Given the description of an element on the screen output the (x, y) to click on. 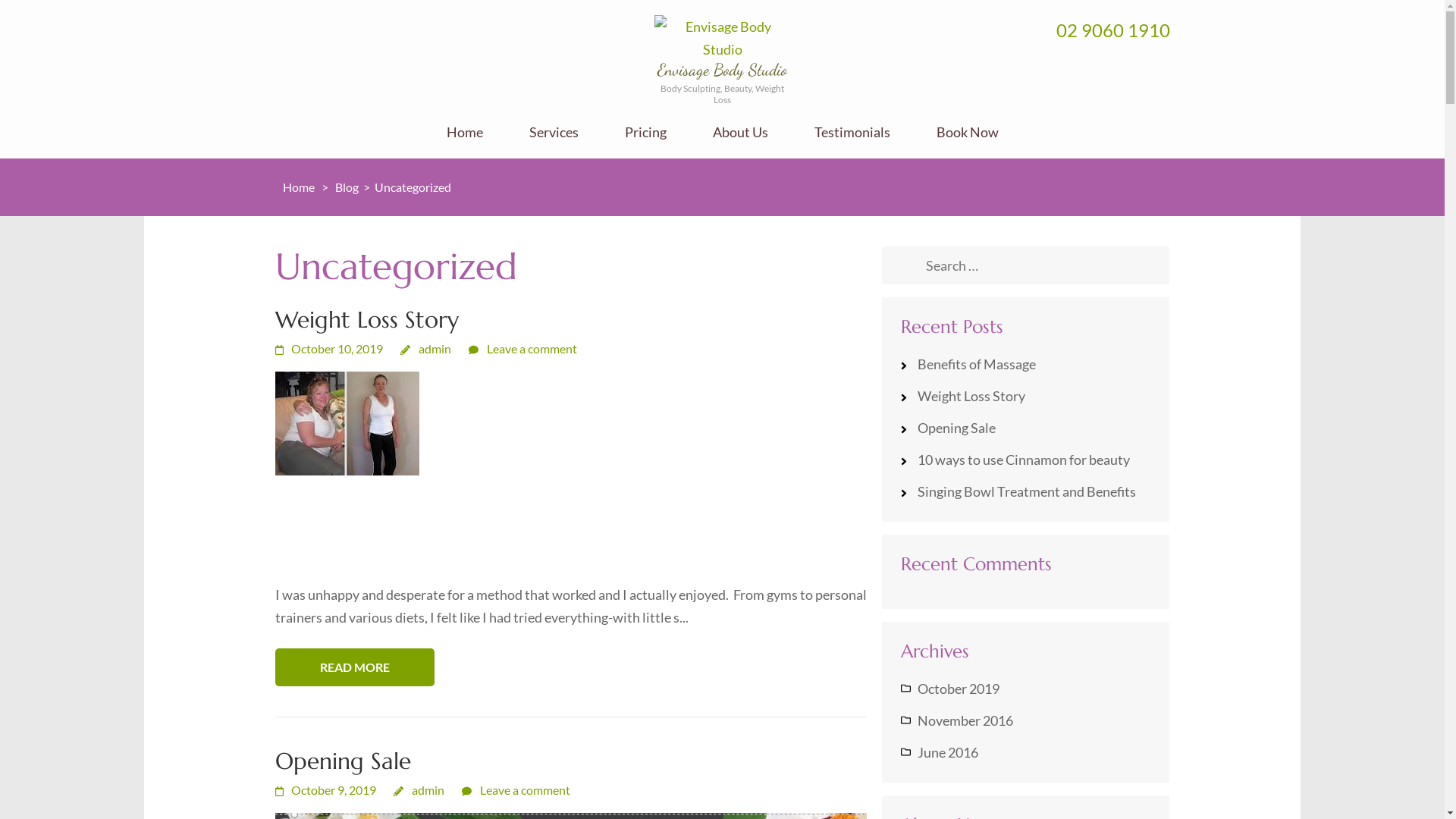
READ MORE Element type: text (353, 667)
Testimonials Element type: text (852, 141)
Services Element type: text (553, 141)
Uncategorized Element type: text (413, 186)
Blog Element type: text (347, 186)
Pricing Element type: text (645, 141)
October 2019 Element type: text (958, 688)
Singing Bowl Treatment and Benefits Element type: text (1026, 491)
Book Now Element type: text (966, 141)
About Us Element type: text (740, 141)
Search Element type: text (906, 266)
Leave a comment Element type: text (515, 789)
October 10, 2019 Element type: text (328, 348)
admin Element type: text (425, 348)
admin Element type: text (417, 789)
October 9, 2019 Element type: text (324, 789)
Home Element type: text (299, 186)
Envisage Body Studio Element type: text (722, 69)
Leave a comment Element type: text (522, 348)
Benefits of Massage Element type: text (976, 363)
Opening Sale Element type: text (342, 760)
June 2016 Element type: text (947, 751)
Opening Sale Element type: text (956, 427)
Home Element type: text (463, 141)
November 2016 Element type: text (965, 720)
Weight Loss Story Element type: text (971, 395)
10 ways to use Cinnamon for beauty Element type: text (1023, 459)
Weight Loss Story Element type: text (366, 319)
02 9060 1910 Element type: text (1112, 29)
